Given the description of an element on the screen output the (x, y) to click on. 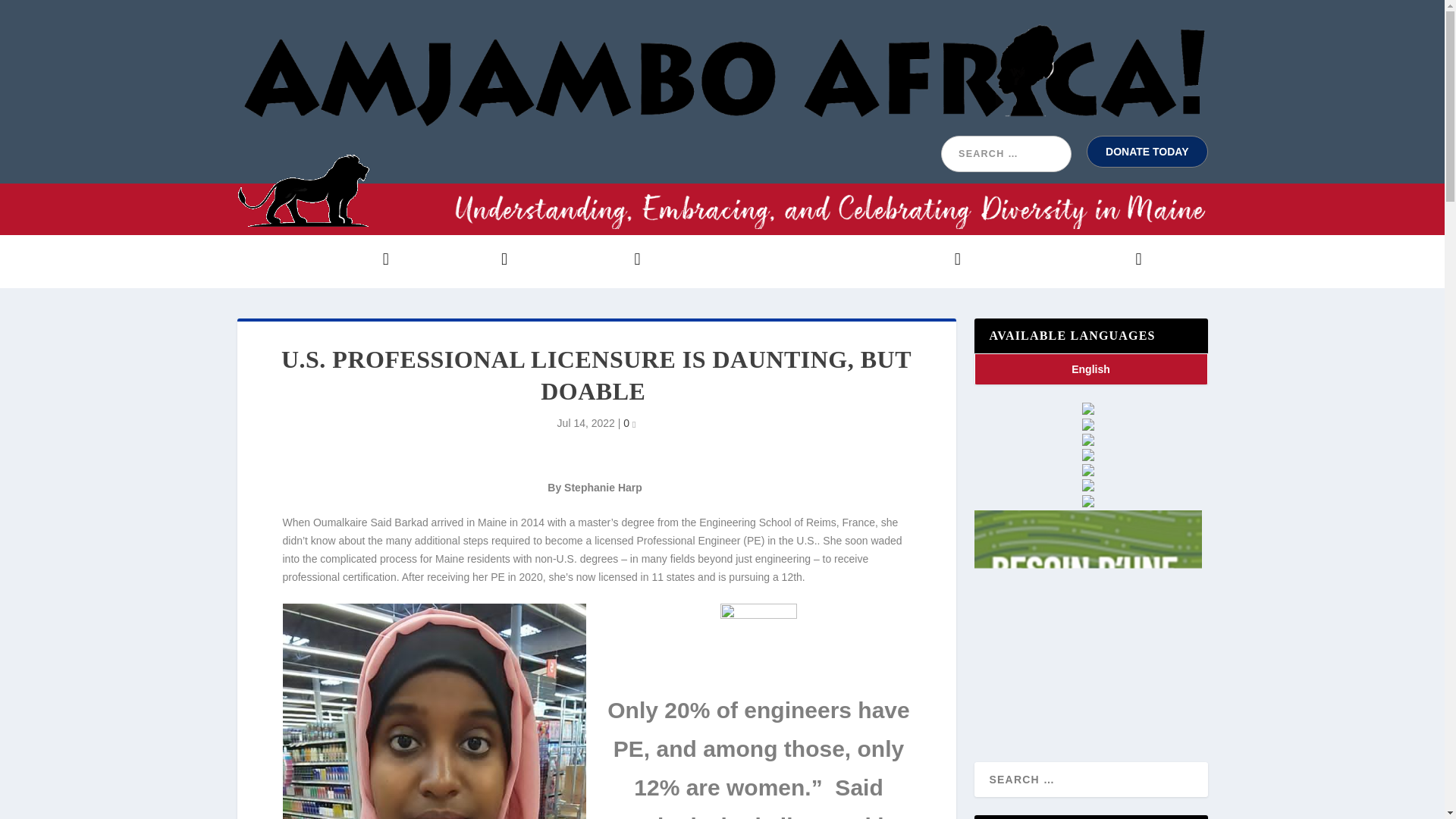
More (1117, 261)
Culture (927, 261)
Health (714, 261)
Search (31, 13)
Opinion (472, 261)
DONATE TODAY (1146, 151)
Education (598, 261)
News (364, 261)
Finance (817, 261)
